Given the description of an element on the screen output the (x, y) to click on. 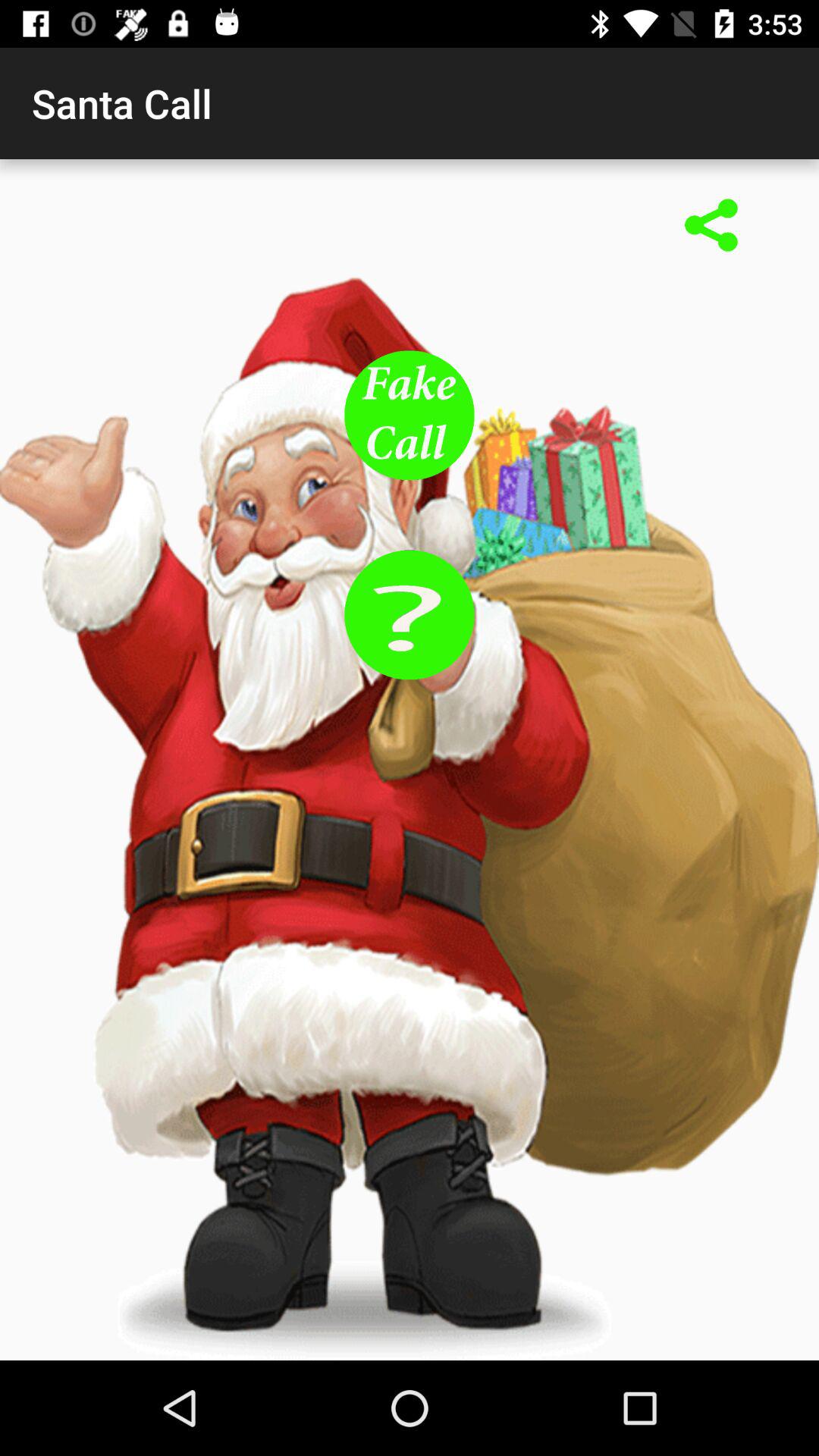
share link (711, 226)
